Given the description of an element on the screen output the (x, y) to click on. 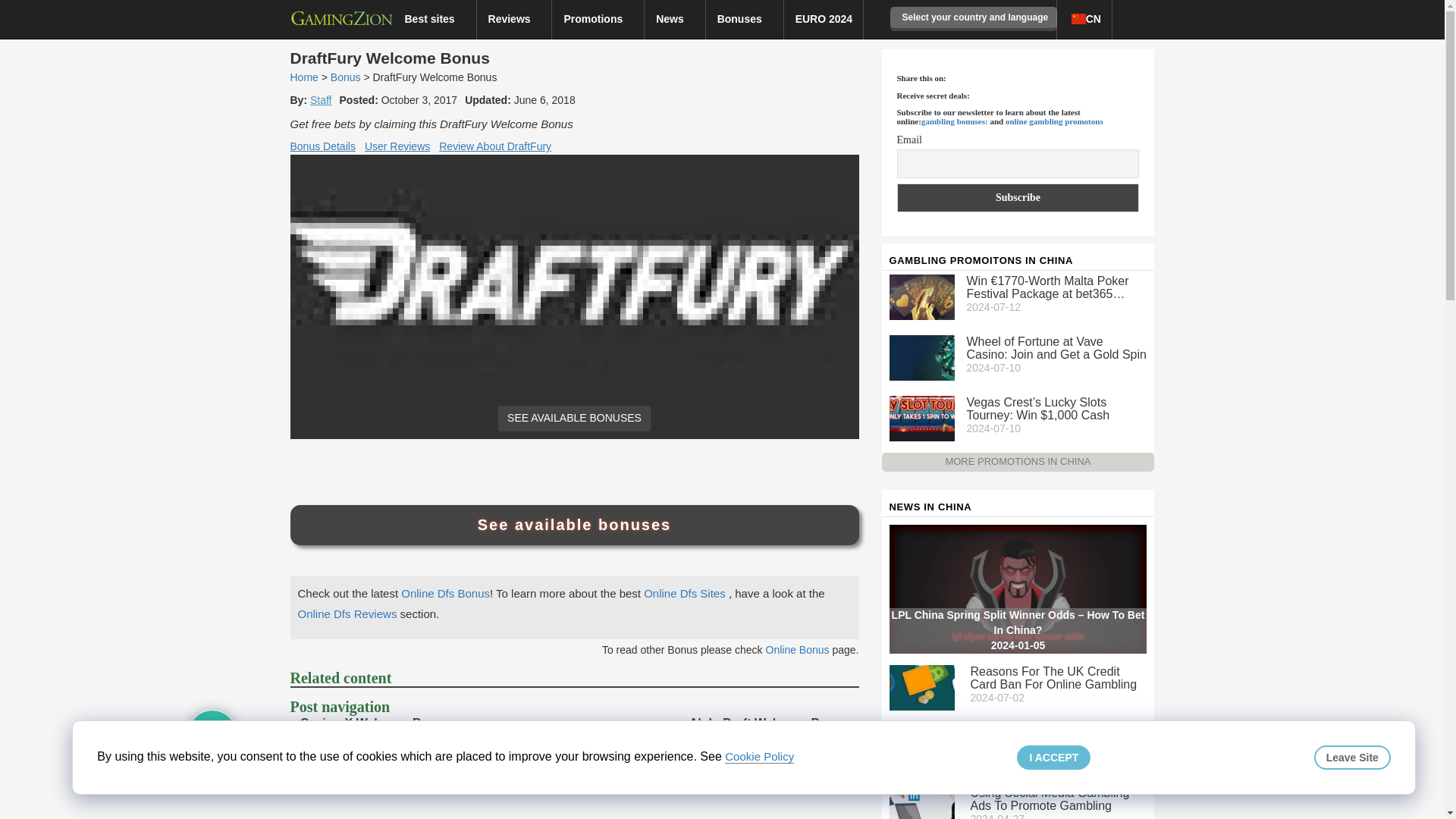
Best sites (434, 18)
Subscribe (1017, 197)
Reviews (515, 18)
News (674, 18)
Best sites (434, 18)
Promotions (598, 18)
Bonuses (745, 18)
Reviews (515, 18)
